Given the description of an element on the screen output the (x, y) to click on. 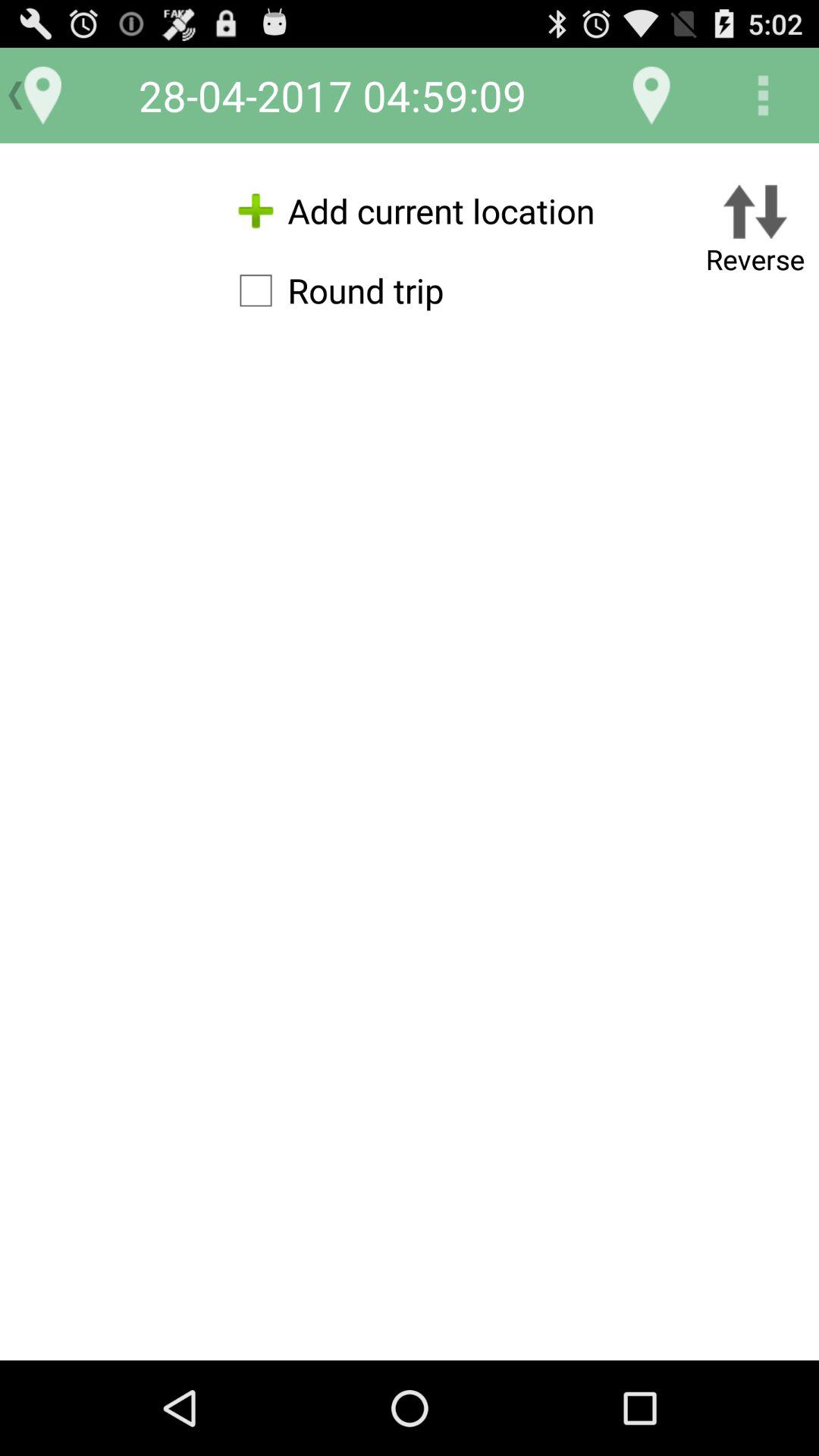
flip to the add current location (409, 210)
